Given the description of an element on the screen output the (x, y) to click on. 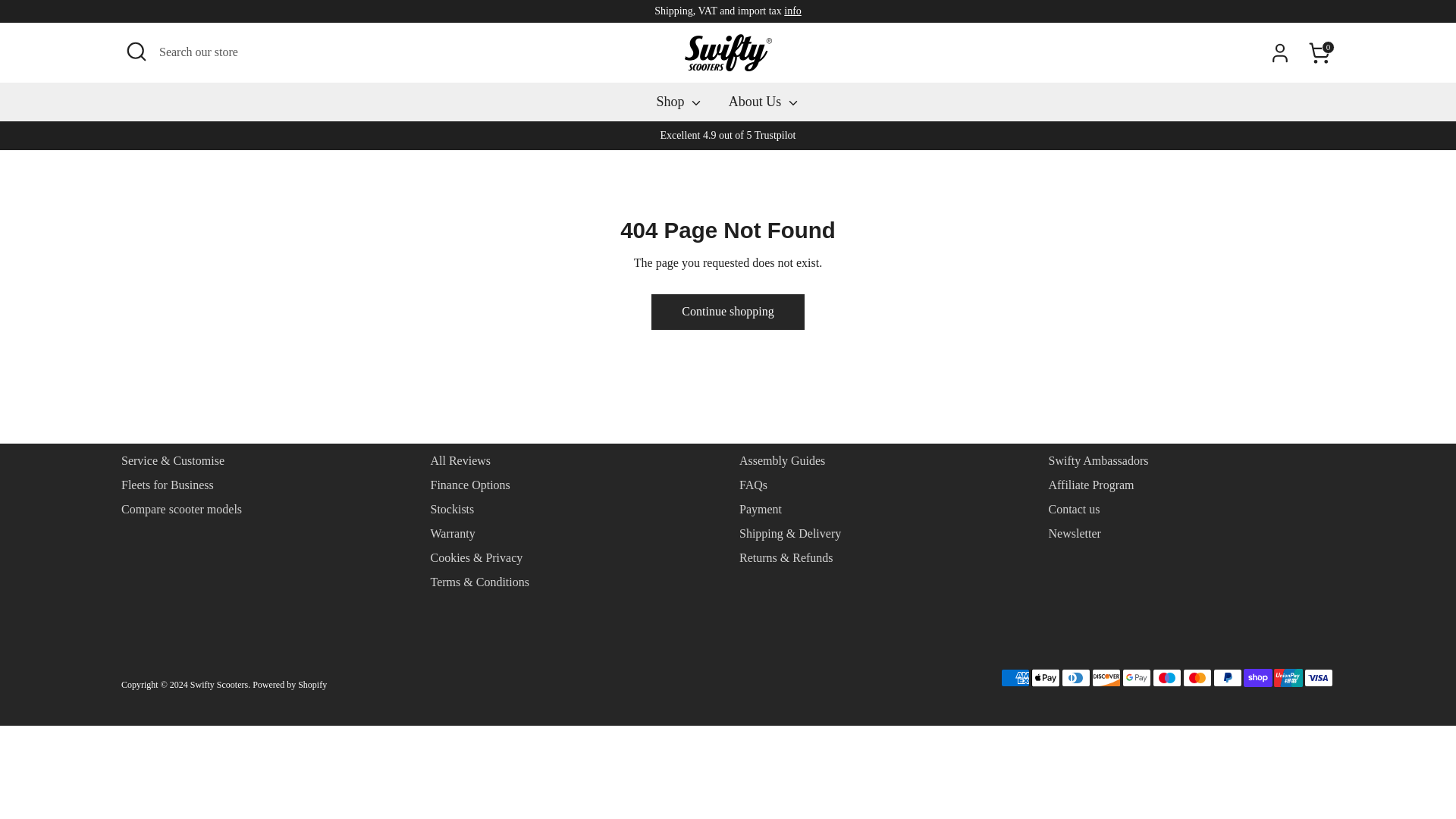
Discover (1106, 678)
PayPal (1226, 678)
Maestro (1166, 678)
Mastercard (1196, 678)
Apple Pay (1044, 678)
Google Pay (1136, 678)
Visa (1318, 678)
info (793, 10)
American Express (1015, 678)
Shop Pay (1257, 678)
